Given the description of an element on the screen output the (x, y) to click on. 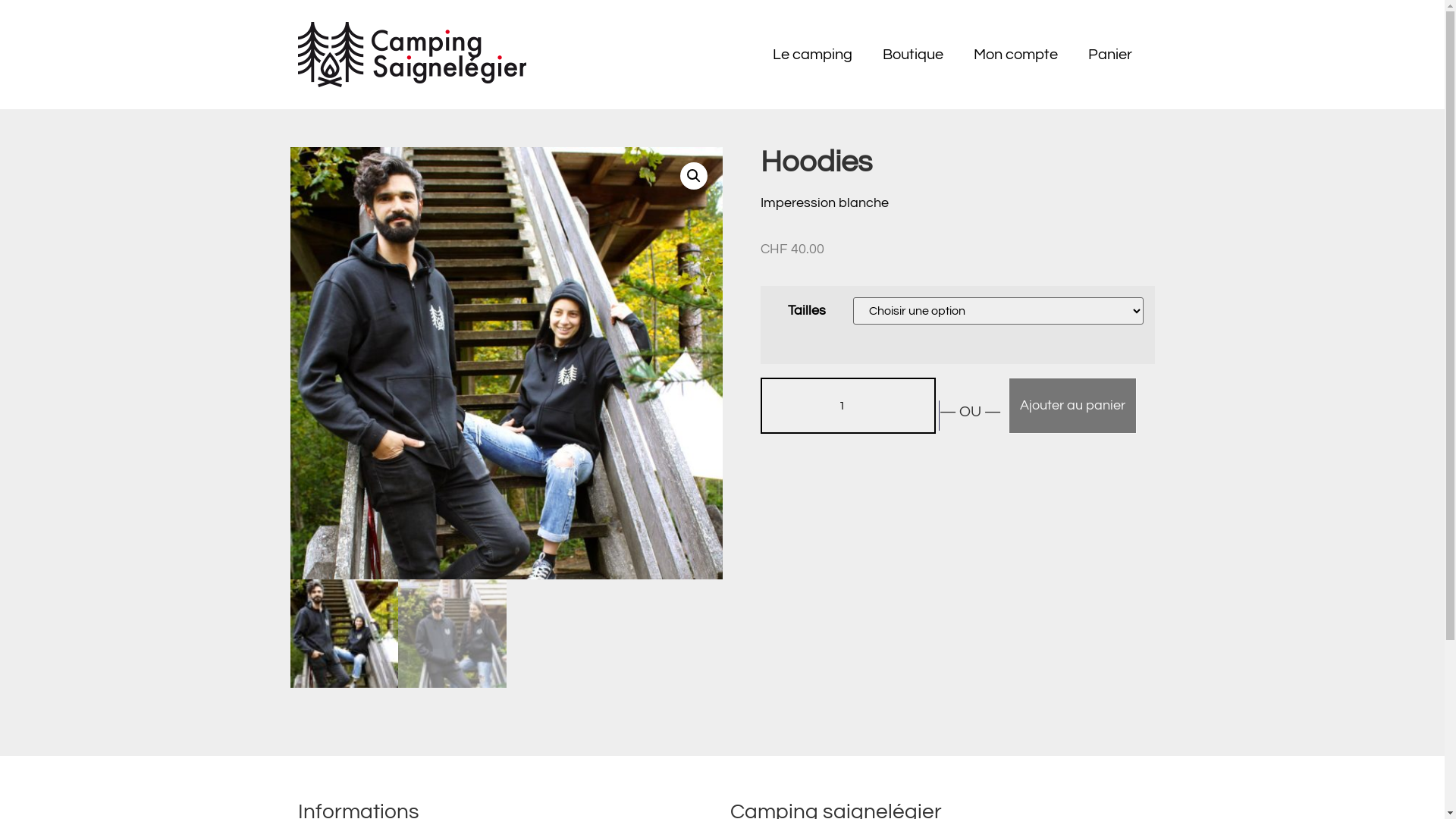
Boutique Element type: text (912, 54)
Camping-Saignelegier-Hoodies-Logo-Noir-Blanc Element type: hover (505, 363)
Mon compte Element type: text (1015, 54)
Panier Element type: text (1109, 54)
Le camping Element type: text (811, 54)
Ajouter au panier Element type: text (1072, 405)
